Given the description of an element on the screen output the (x, y) to click on. 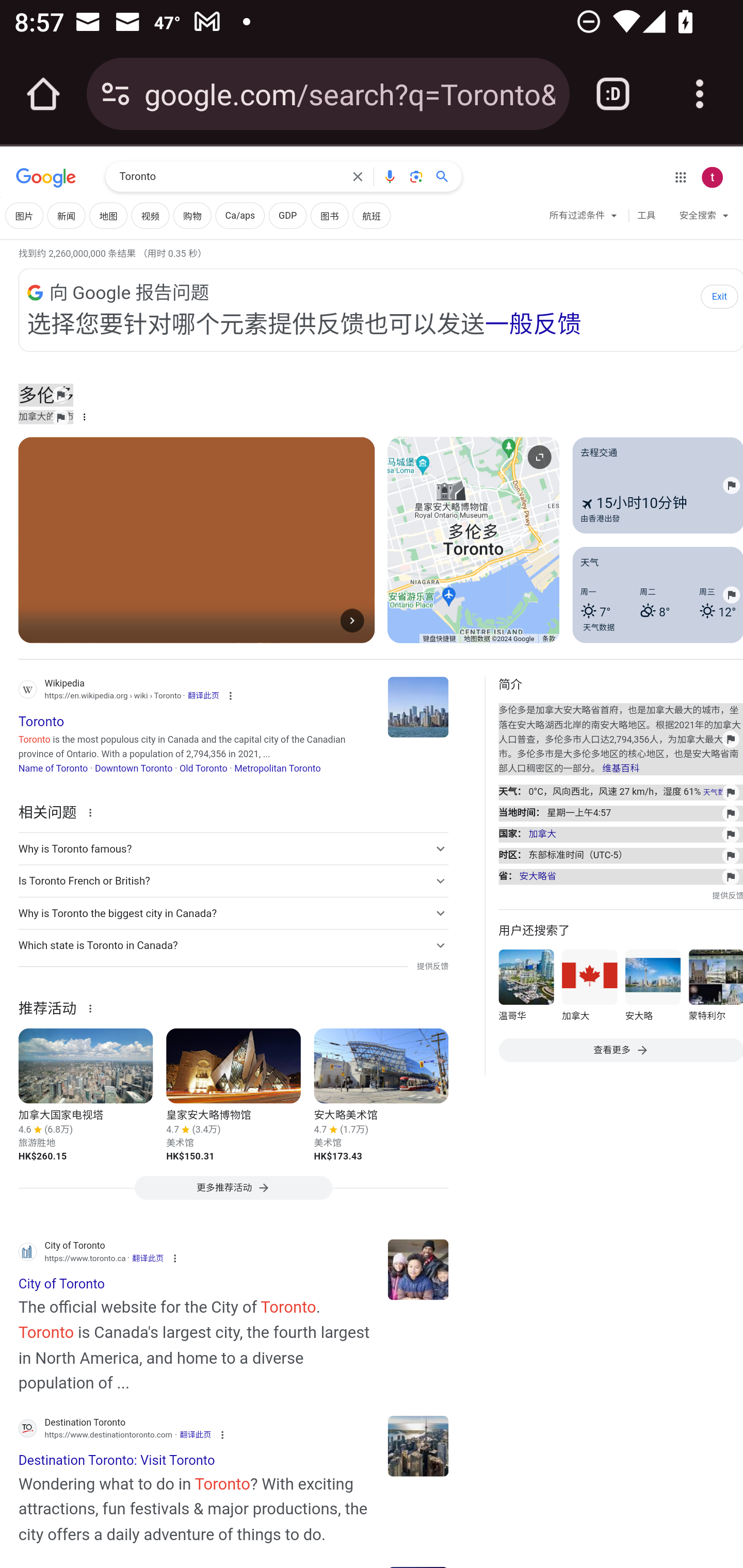
Open the home page (43, 93)
Connection is secure (115, 93)
Switch or close tabs (612, 93)
Customize and control Google Chrome (699, 93)
清除 (357, 176)
按语音搜索 (389, 176)
按图搜索 (415, 176)
搜索 (446, 176)
Google 应用 (680, 176)
Google 账号： test appium (testappium002@gmail.com) (712, 176)
Google (45, 178)
Toronto (229, 177)
图片 (24, 215)
新闻 (65, 215)
地图 (107, 215)
视频 (149, 215)
购物 (191, 215)
添加“Ca/aps” Ca/aps (239, 215)
添加“GDP” GDP (287, 215)
图书 (328, 215)
航班 (371, 215)
所有过滤条件 (583, 217)
工具 (646, 215)
安全搜索 (703, 217)
Exit (715, 294)
一般反馈 (532, 323)
更多选项 (84, 416)
去程交通 15小时10分钟 乘坐飞机 由香港出發 报告对以下内容的反馈: 15小时10分钟 (657, 485)
展开地图 (539, 456)
天气 周一 高温 7 度 周二 高温 8 度 周三 高温 12 度 (657, 593)
下一张图片 (352, 620)
天气数据 (599, 626)
Toronto (417, 705)
翻译此页 (203, 695)
报告对以下内容的反馈: 简介 (620, 739)
Name of Toronto (52, 768)
Downtown Toronto (132, 768)
Old Toronto (203, 768)
Metropolitan Toronto (277, 768)
维基百科 (620, 768)
报告对以下内容的反馈: 简介 (620, 792)
关于这条结果的详细信息 (93, 811)
报告对以下内容的反馈: 简介 (620, 812)
报告对以下内容的反馈: 简介 (620, 834)
Why is Toronto famous? (232, 848)
报告对以下内容的反馈: 简介 (620, 854)
Is Toronto French or British? (232, 880)
报告对以下内容的反馈: 简介 (620, 876)
提供反馈 (727, 895)
Why is Toronto the biggest city in Canada? (232, 912)
Which state is Toronto in Canada? (232, 944)
温哥华 (526, 988)
加拿大 (588, 988)
安大略 (652, 988)
蒙特利尔 (715, 988)
提供反馈 (432, 965)
关于这条结果的详细信息 (93, 1007)
查看更多 查看更多 查看更多 (620, 1050)
更多推荐活动 (232, 1193)
www.toronto (417, 1268)
翻译此页 (147, 1257)
www.destinationtoronto (417, 1446)
翻译此页 (195, 1434)
